Given the description of an element on the screen output the (x, y) to click on. 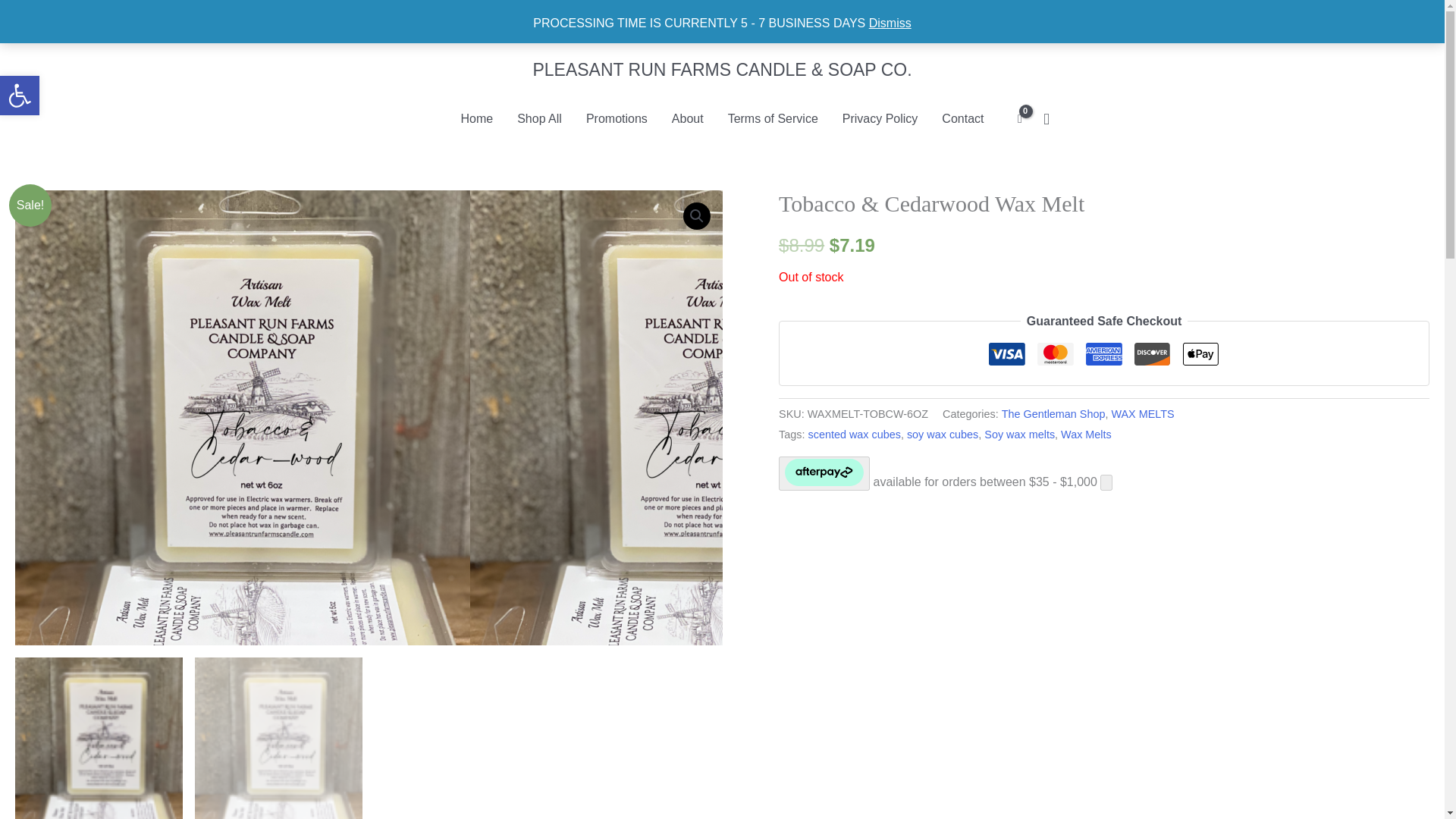
The Gentleman Shop (1053, 413)
Home (476, 118)
scented wax cubes (854, 434)
High Contrast (19, 95)
Soy wax melts (539, 118)
soy wax cubes (1019, 434)
Light Background (942, 434)
